Given the description of an element on the screen output the (x, y) to click on. 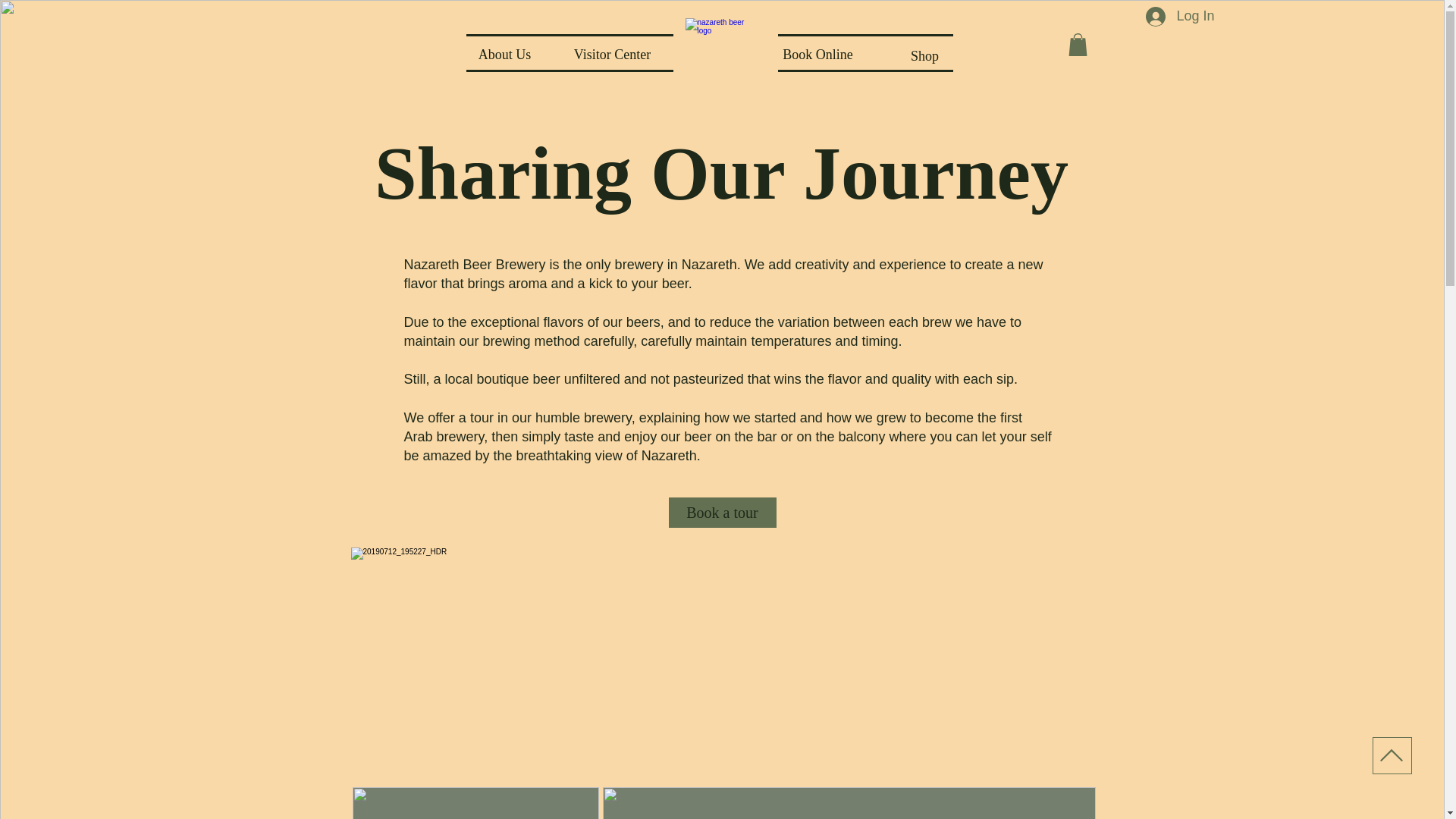
Shop (924, 55)
Log In (1179, 15)
Book a tour (722, 512)
About Us (503, 54)
Visitor Center (611, 54)
Book Online (818, 54)
